Given the description of an element on the screen output the (x, y) to click on. 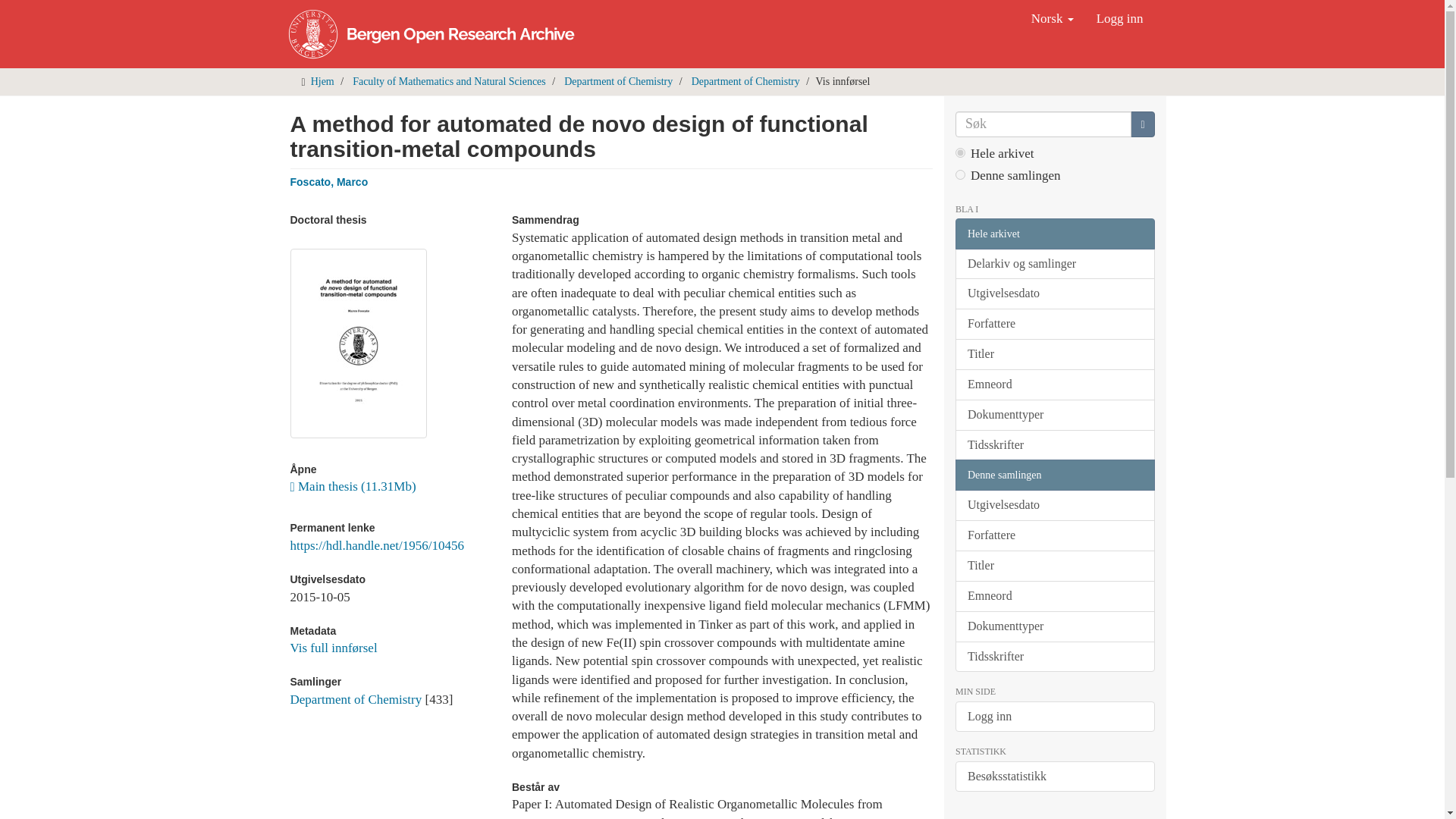
Department of Chemistry (745, 81)
Delarkiv og samlinger (1054, 264)
Department of Chemistry (355, 699)
Faculty of Mathematics and Natural Sciences (449, 81)
Norsk  (1052, 18)
Logg inn (1119, 18)
Hjem (322, 81)
Department of Chemistry (618, 81)
Foscato, Marco (328, 182)
Utgivelsesdato (1054, 293)
Hele arkivet (1054, 233)
